Given the description of an element on the screen output the (x, y) to click on. 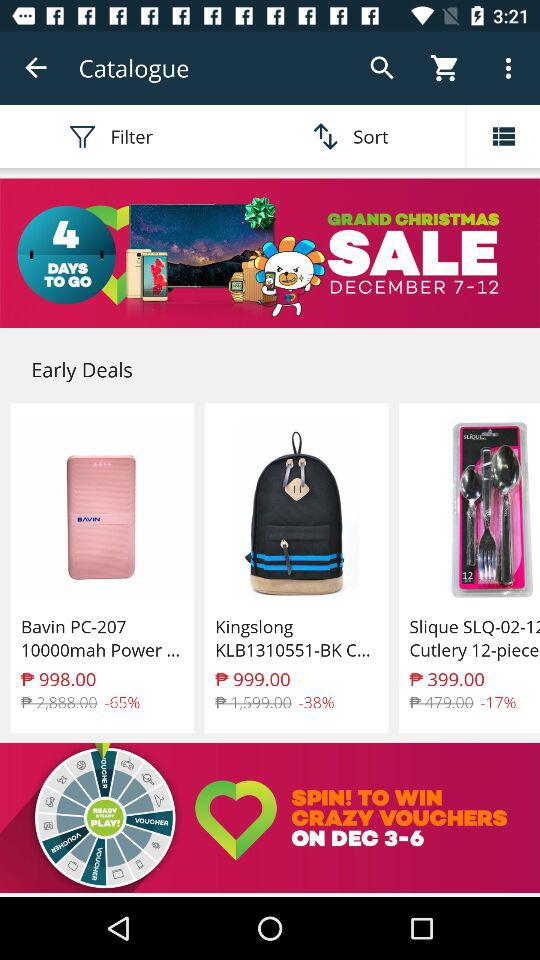
show menu (503, 136)
